Given the description of an element on the screen output the (x, y) to click on. 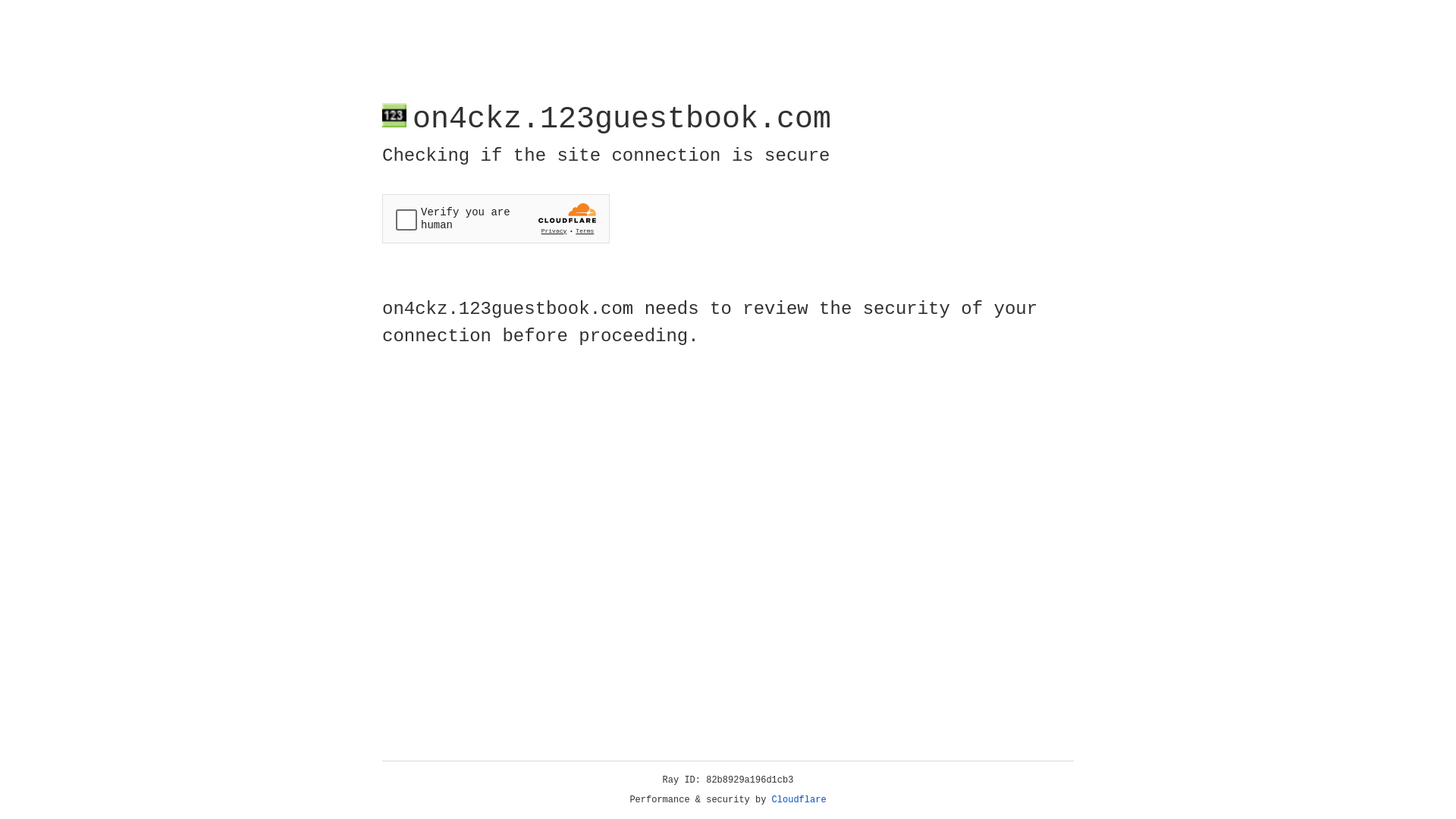
Widget containing a Cloudflare security challenge Element type: hover (495, 218)
Cloudflare Element type: text (798, 799)
